Given the description of an element on the screen output the (x, y) to click on. 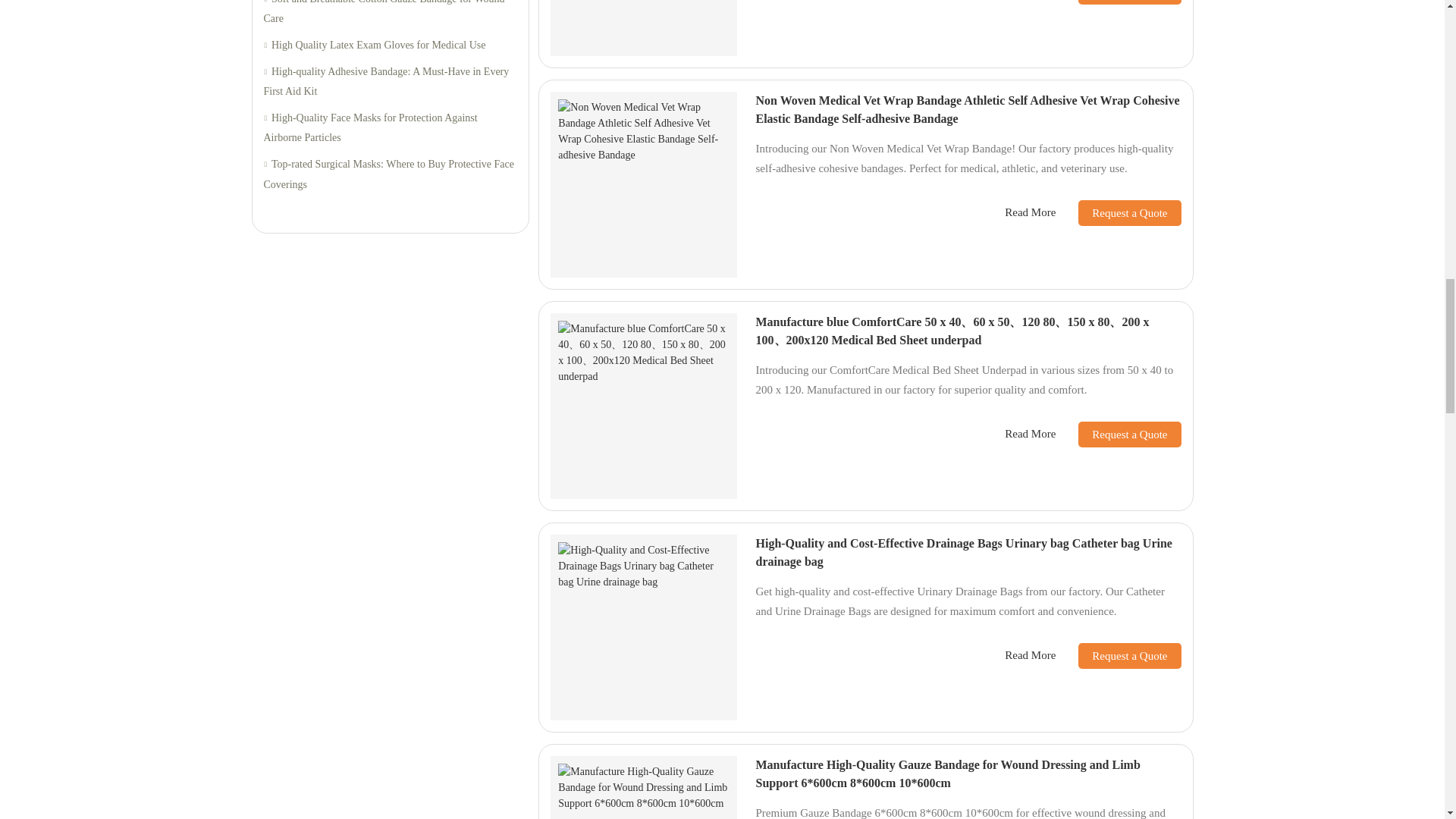
Soft and Breathable Cotton Gauze Bandage for Wound Care (389, 14)
High Quality Latex Exam Gloves for Medical Use (389, 46)
